Given the description of an element on the screen output the (x, y) to click on. 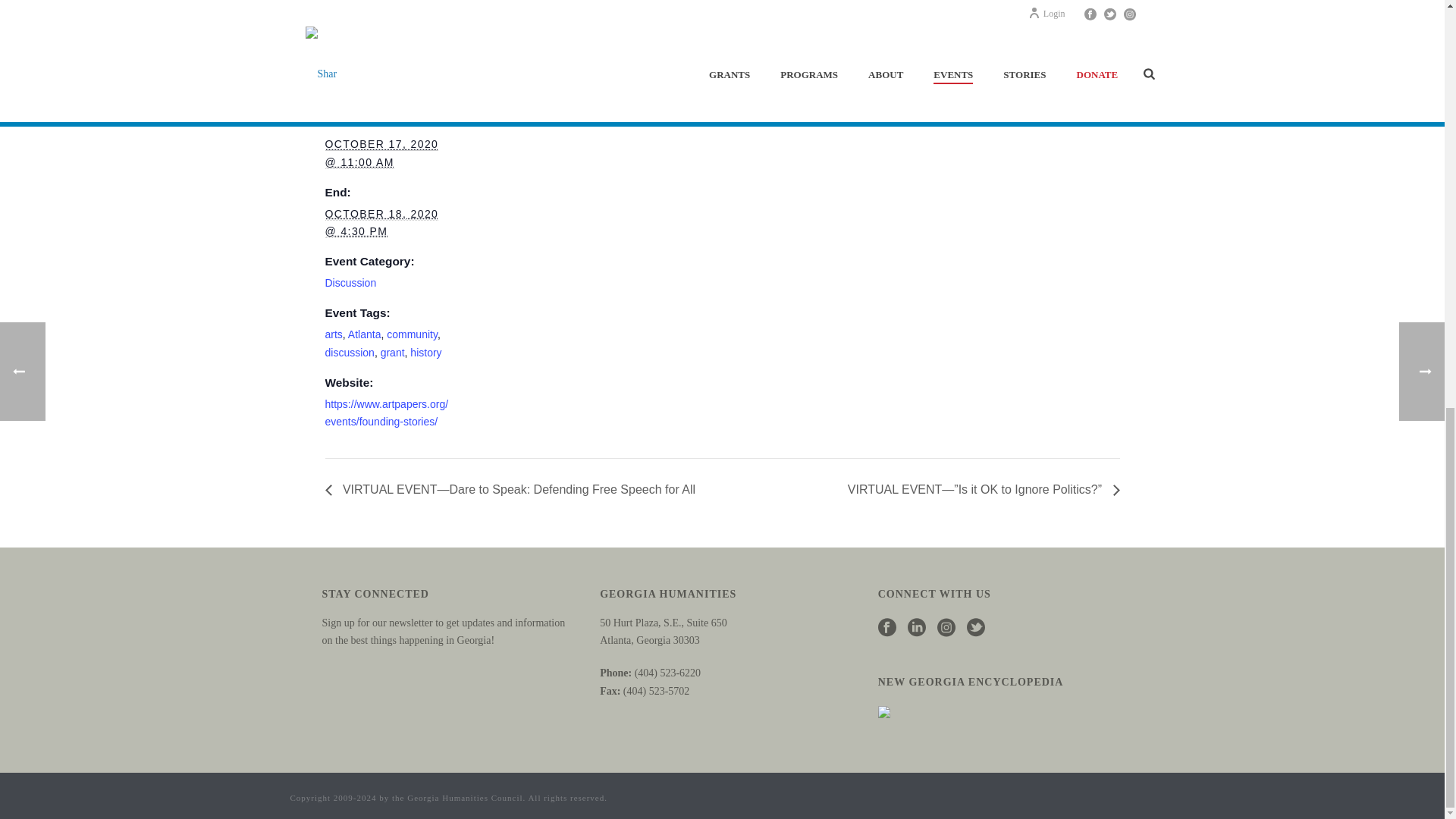
Follow Us on facebook (886, 628)
2020-10-18 (381, 223)
2020-10-17 (381, 153)
Follow Us on linkedin (916, 628)
Follow Us on instagram (946, 628)
Follow Us on twitter (975, 628)
